Given the description of an element on the screen output the (x, y) to click on. 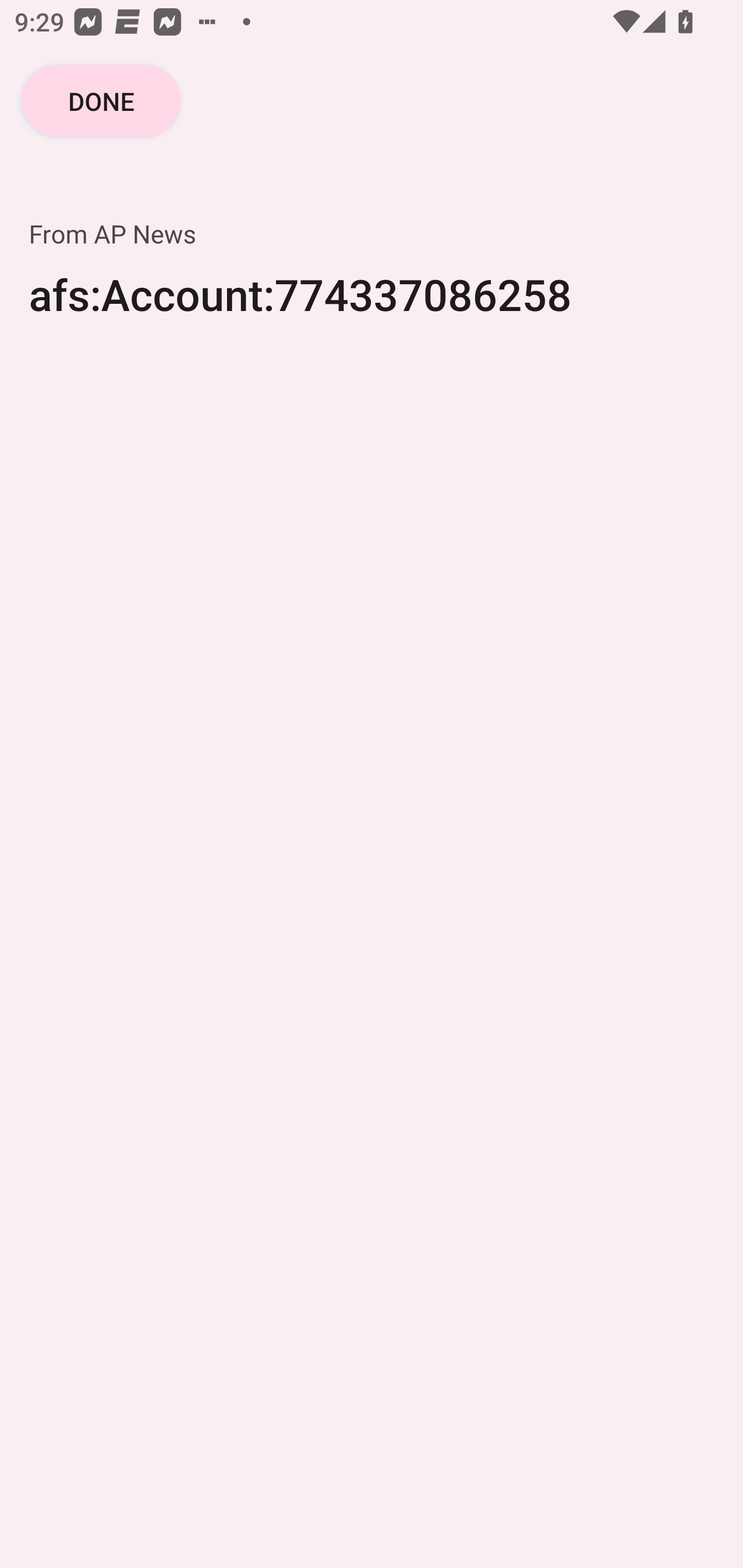
DONE (100, 101)
afs:Account:774337086258 (371, 307)
